Given the description of an element on the screen output the (x, y) to click on. 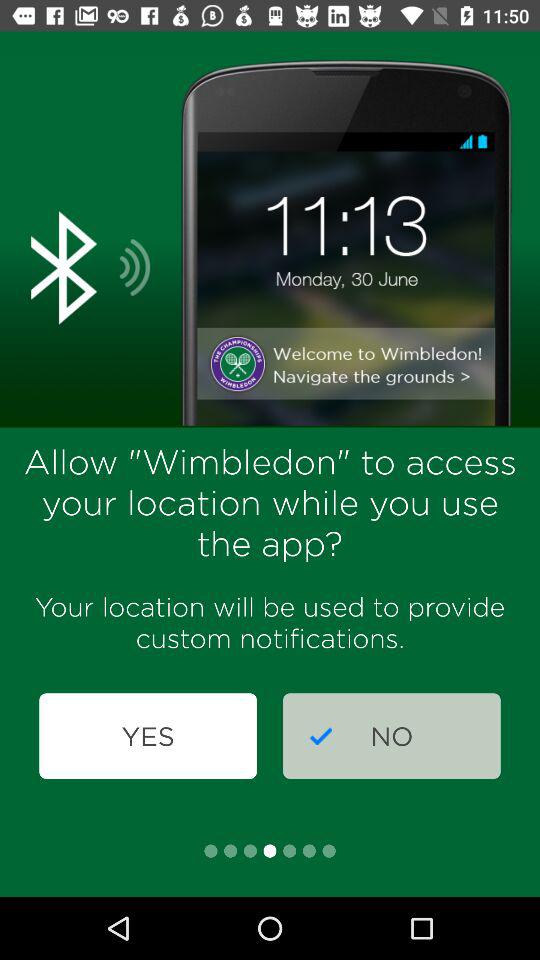
select icon next to yes (391, 735)
